Given the description of an element on the screen output the (x, y) to click on. 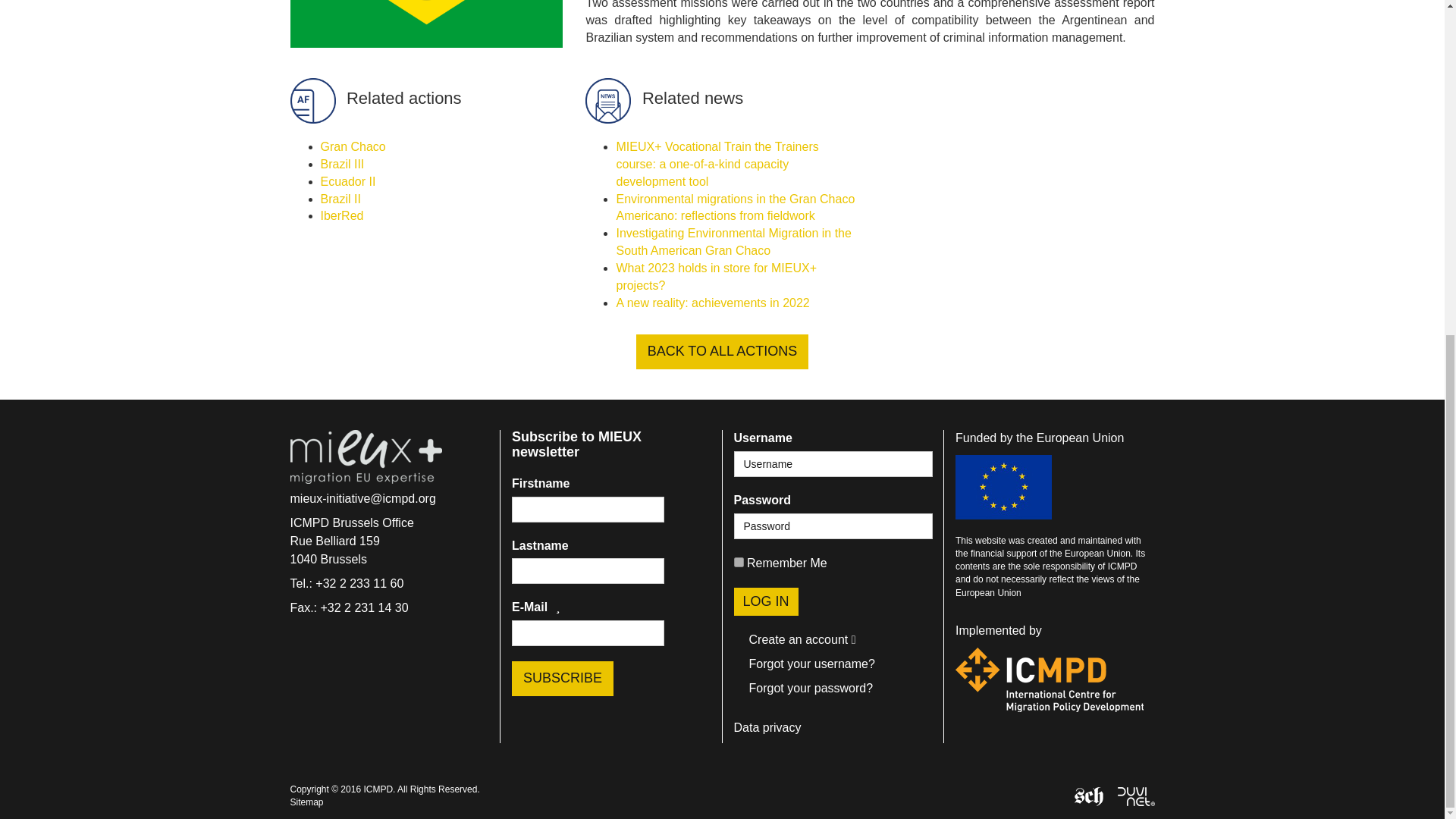
yes (738, 562)
Log in (765, 602)
Subscribe (562, 678)
